Given the description of an element on the screen output the (x, y) to click on. 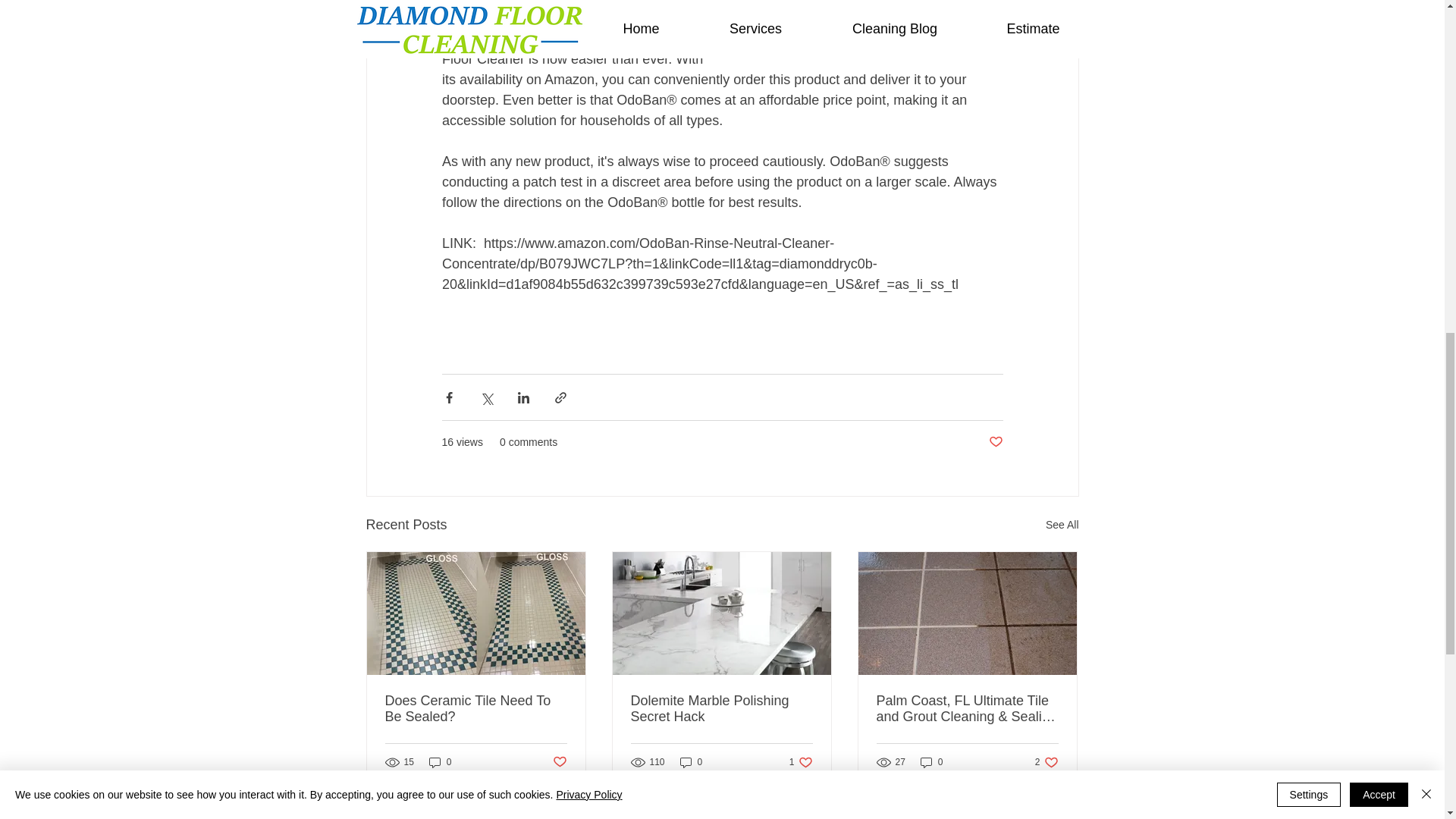
Post not marked as liked (558, 761)
0 (931, 762)
0 (691, 762)
Does Ceramic Tile Need To Be Sealed? (476, 708)
Dolemite Marble Polishing Secret Hack (721, 708)
Post not marked as liked (995, 442)
See All (1061, 525)
0 (440, 762)
